Given the description of an element on the screen output the (x, y) to click on. 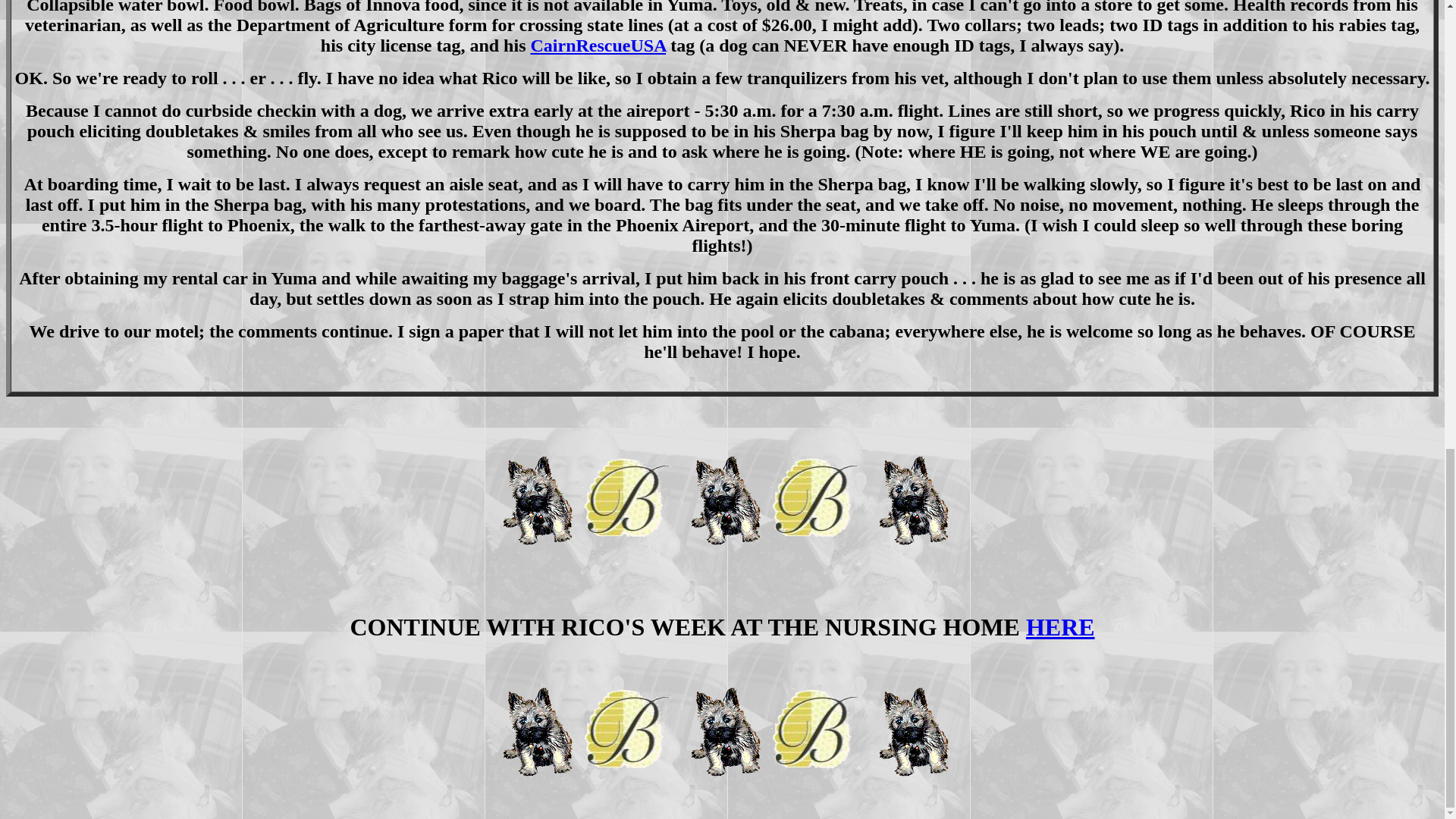
CairnRescueUSA (597, 45)
HERE (1060, 626)
